Given the description of an element on the screen output the (x, y) to click on. 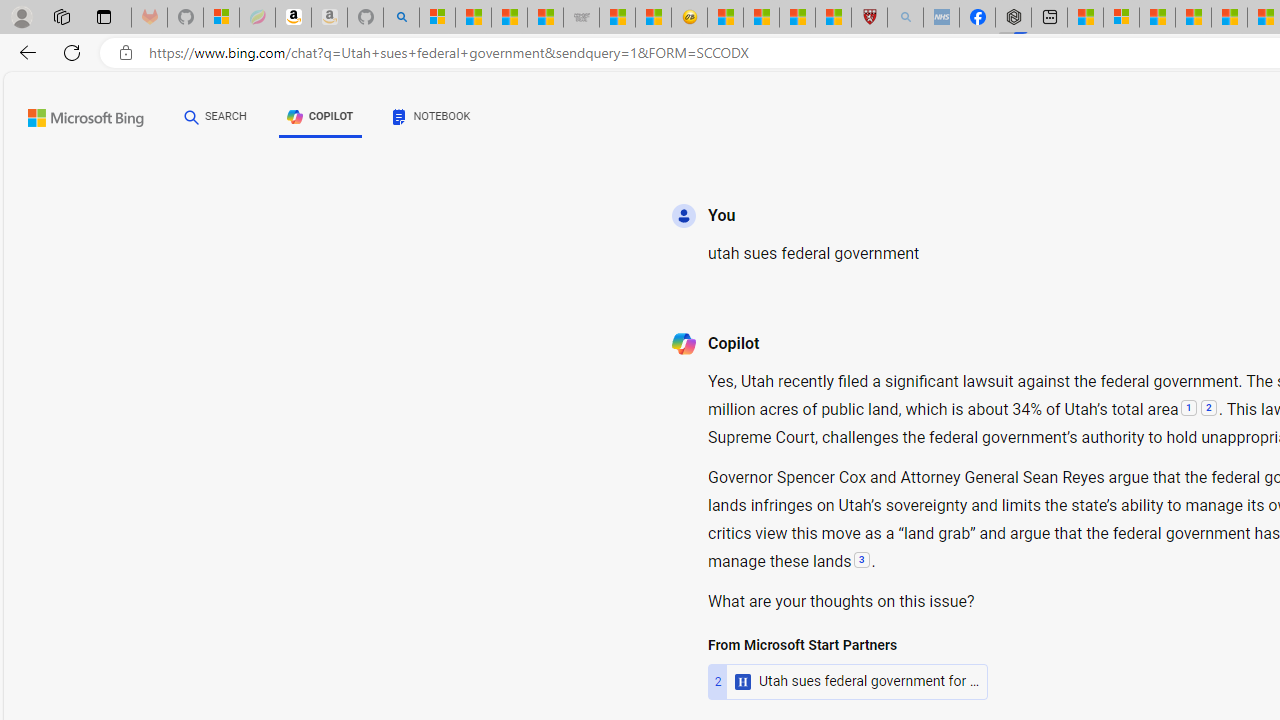
COPILOT (319, 120)
2Utah sues federal government for control of public lands (847, 681)
COPILOT (319, 116)
2:  (1208, 409)
